Given the description of an element on the screen output the (x, y) to click on. 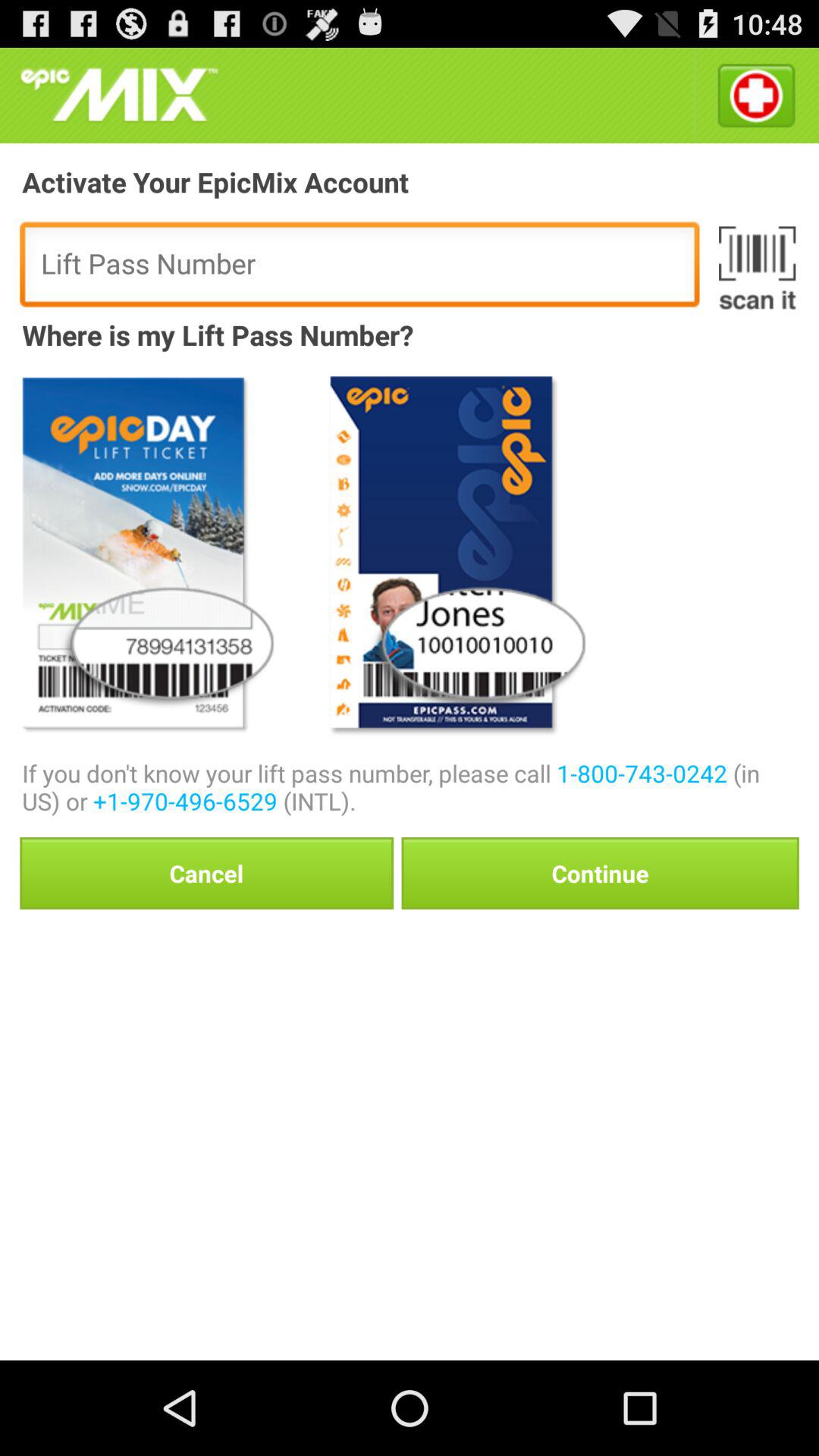
choose continue on the right (600, 873)
